Given the description of an element on the screen output the (x, y) to click on. 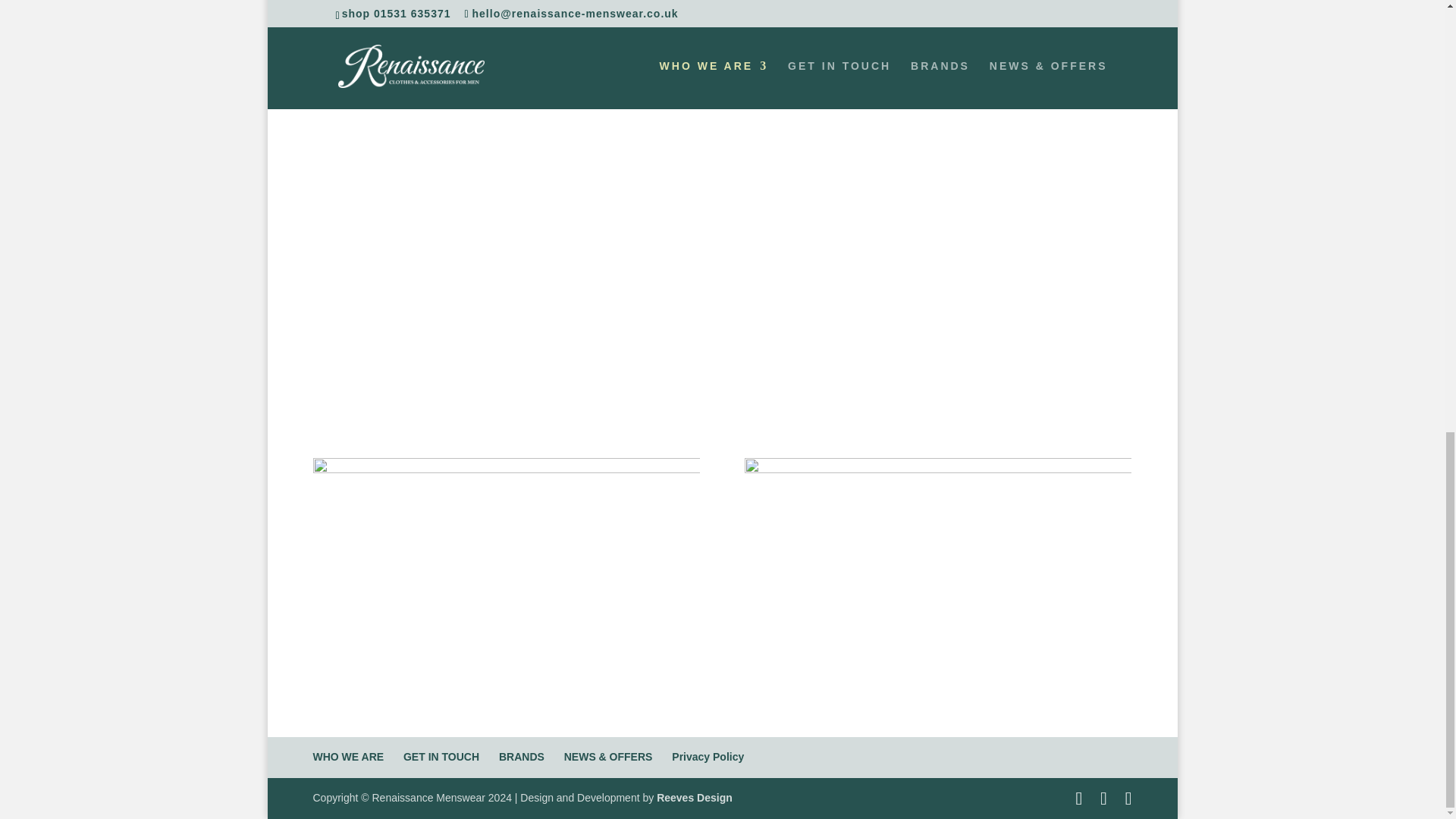
BRANDS (521, 756)
3 Honest genuine advice (713, 16)
5 Affordable prices (1037, 16)
Reeves Design (694, 797)
4 Relaxed environment (879, 16)
1 Quality Products (361, 16)
2 Friendly Service (529, 16)
WHO WE ARE (348, 756)
upstairs (937, 566)
GET IN TOUCH (441, 756)
downstairs (505, 566)
Privacy Policy (707, 756)
